Given the description of an element on the screen output the (x, y) to click on. 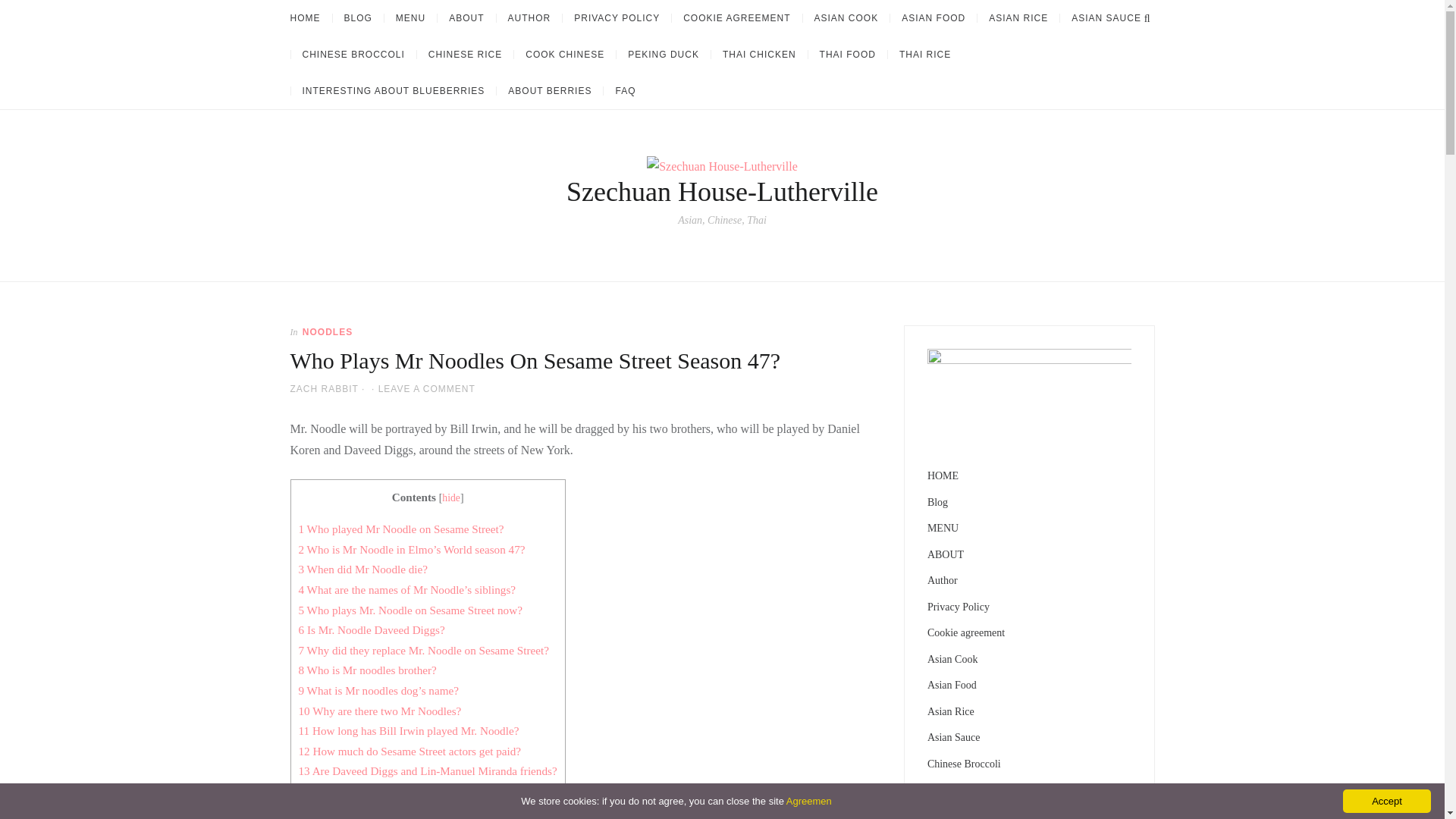
3 When did Mr Noodle die? (363, 568)
6 Is Mr. Noodle Daveed Diggs? (371, 629)
COOKIE AGREEMENT (736, 17)
10 Why are there two Mr Noodles? (379, 710)
1 Who played Mr Noodle on Sesame Street? (400, 528)
ASIAN COOK (845, 17)
ZACH RABBIT (323, 388)
ASIAN SAUCE (1106, 17)
PEKING DUCK (662, 53)
MENU (410, 17)
THAI FOOD (847, 53)
INTERESTING ABOUT BLUEBERRIES (392, 90)
ABOUT (465, 17)
BLOG (357, 17)
ASIAN RICE (1017, 17)
